Given the description of an element on the screen output the (x, y) to click on. 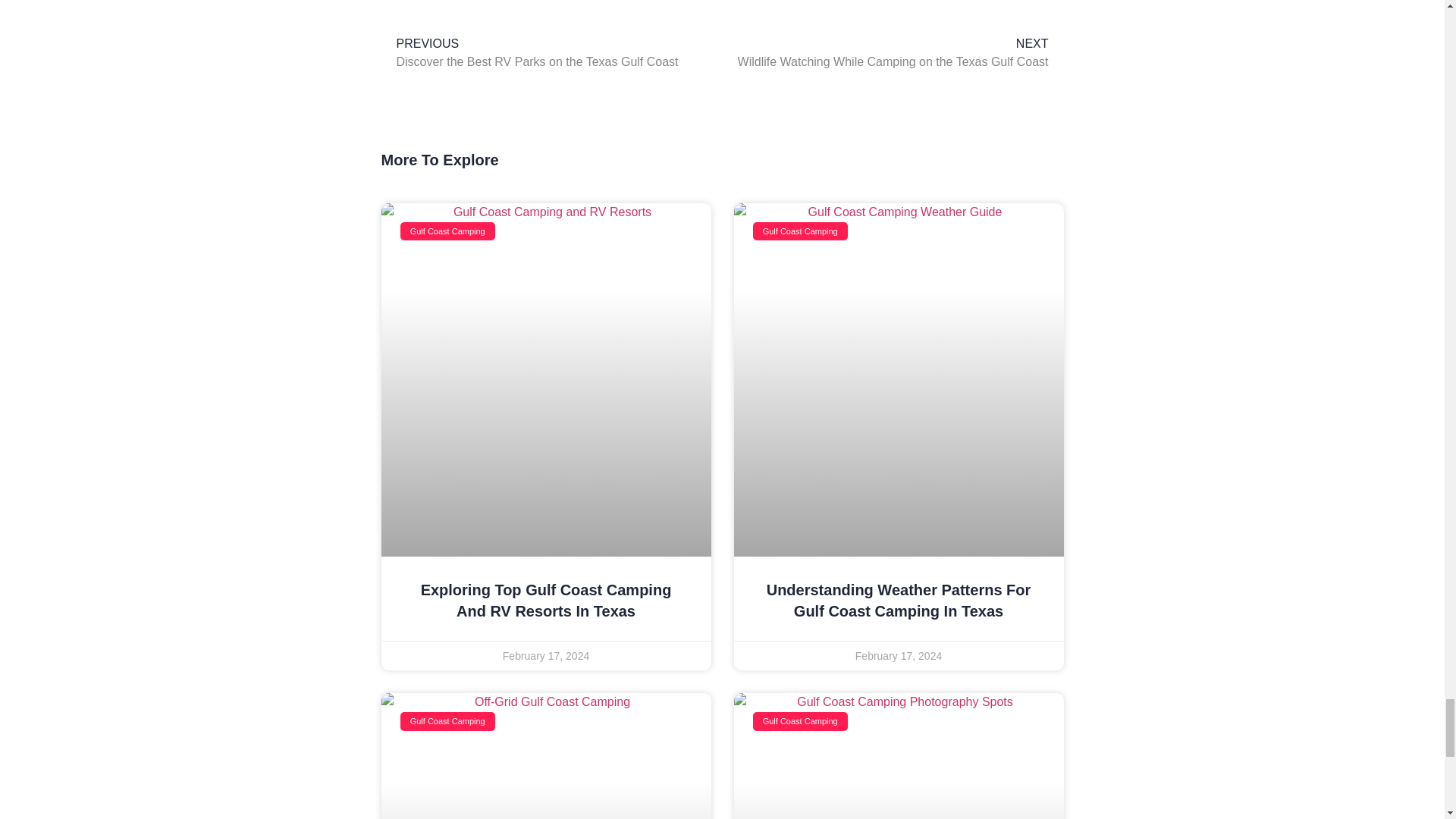
Exploring Top Gulf Coast Camping And RV Resorts In Texas (551, 53)
